Given the description of an element on the screen output the (x, y) to click on. 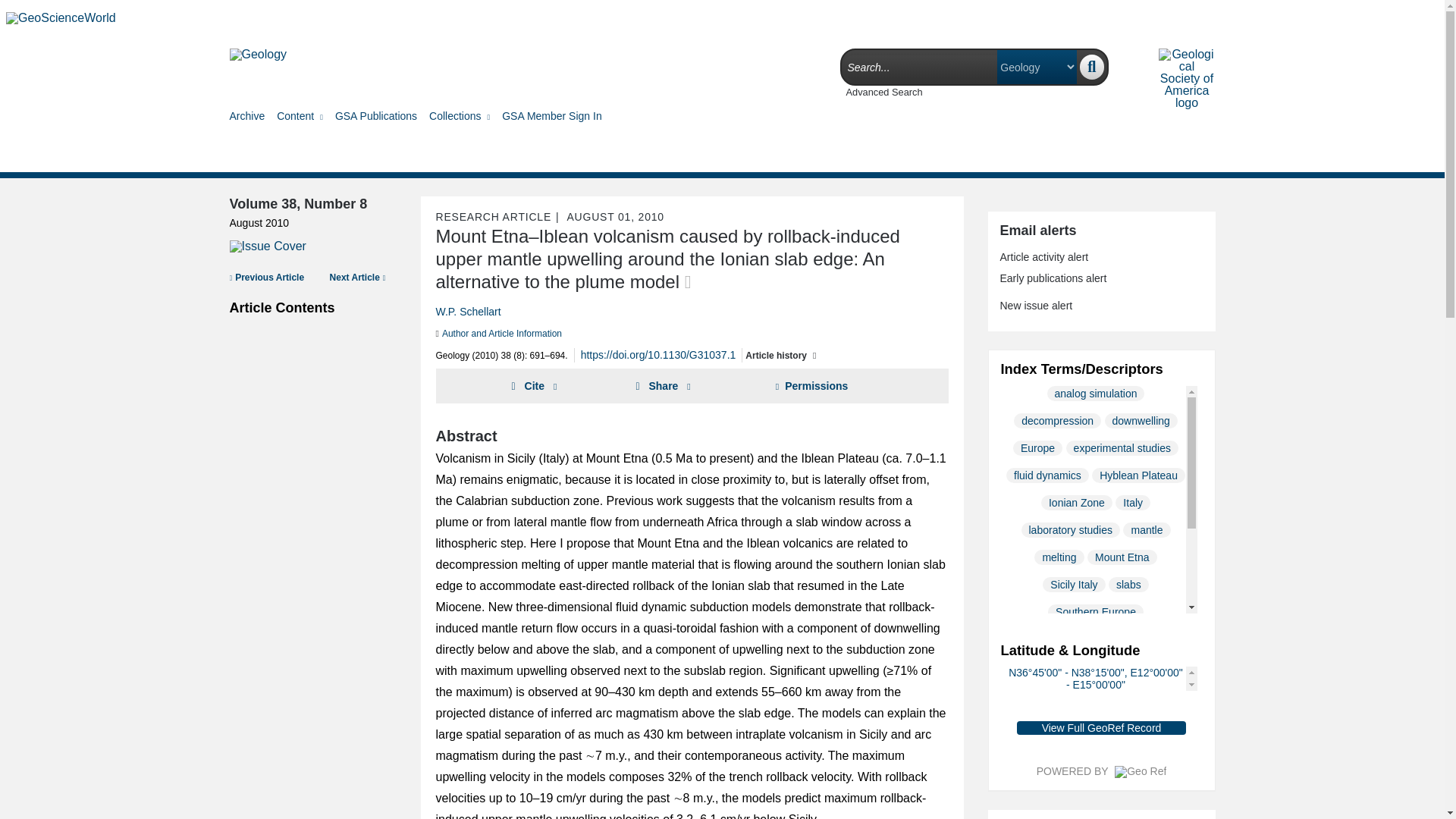
Books (255, 18)
GSA Member Sign In (552, 115)
Archive (246, 115)
Advanced Search (884, 91)
Sign In (1415, 18)
Citation Manager (516, 18)
Publishers (365, 18)
Content (299, 115)
GSA Publications (375, 115)
GeoRef (306, 18)
Help (583, 18)
search input (919, 66)
OpenGeoSci (433, 18)
Collections (459, 115)
Journals (209, 18)
